Given the description of an element on the screen output the (x, y) to click on. 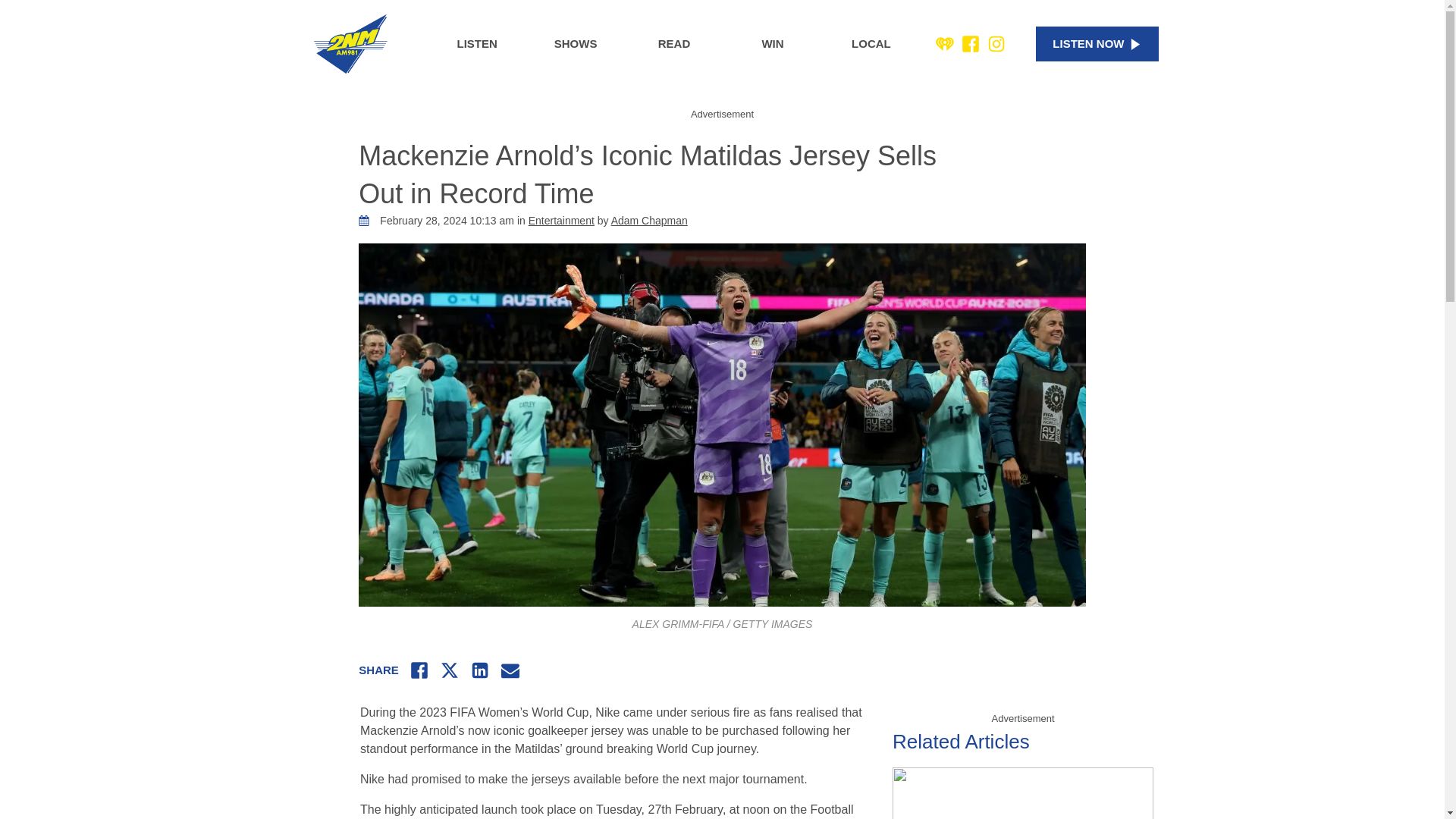
Instagram (996, 44)
SHOWS (574, 43)
LISTEN NOW (1096, 44)
LOCAL (871, 43)
WIN (772, 43)
LISTEN (476, 43)
Posts by Adam Chapman (649, 220)
READ (673, 43)
iHeart (944, 44)
Facebook (969, 44)
